Given the description of an element on the screen output the (x, y) to click on. 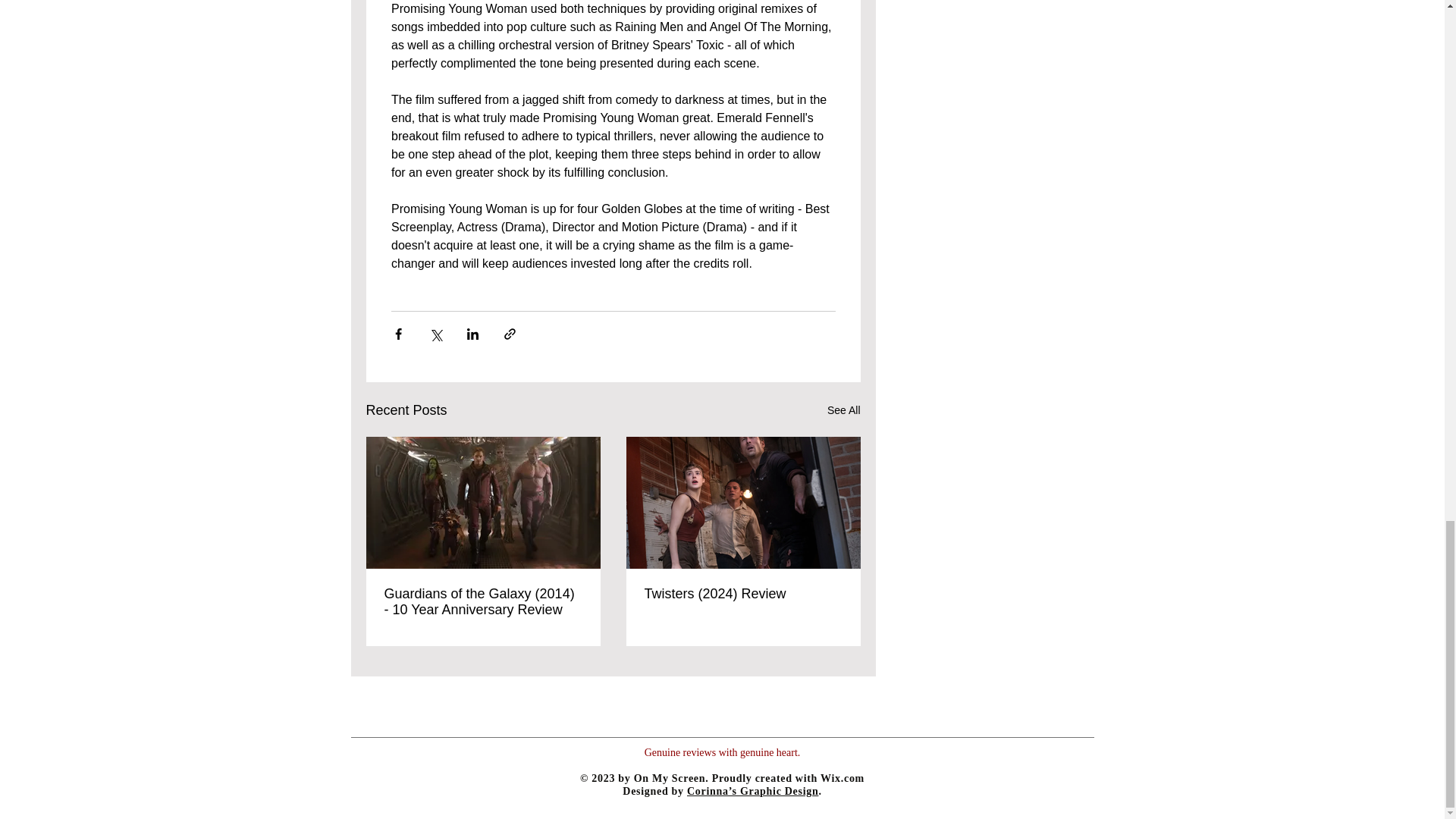
See All (843, 410)
